Given the description of an element on the screen output the (x, y) to click on. 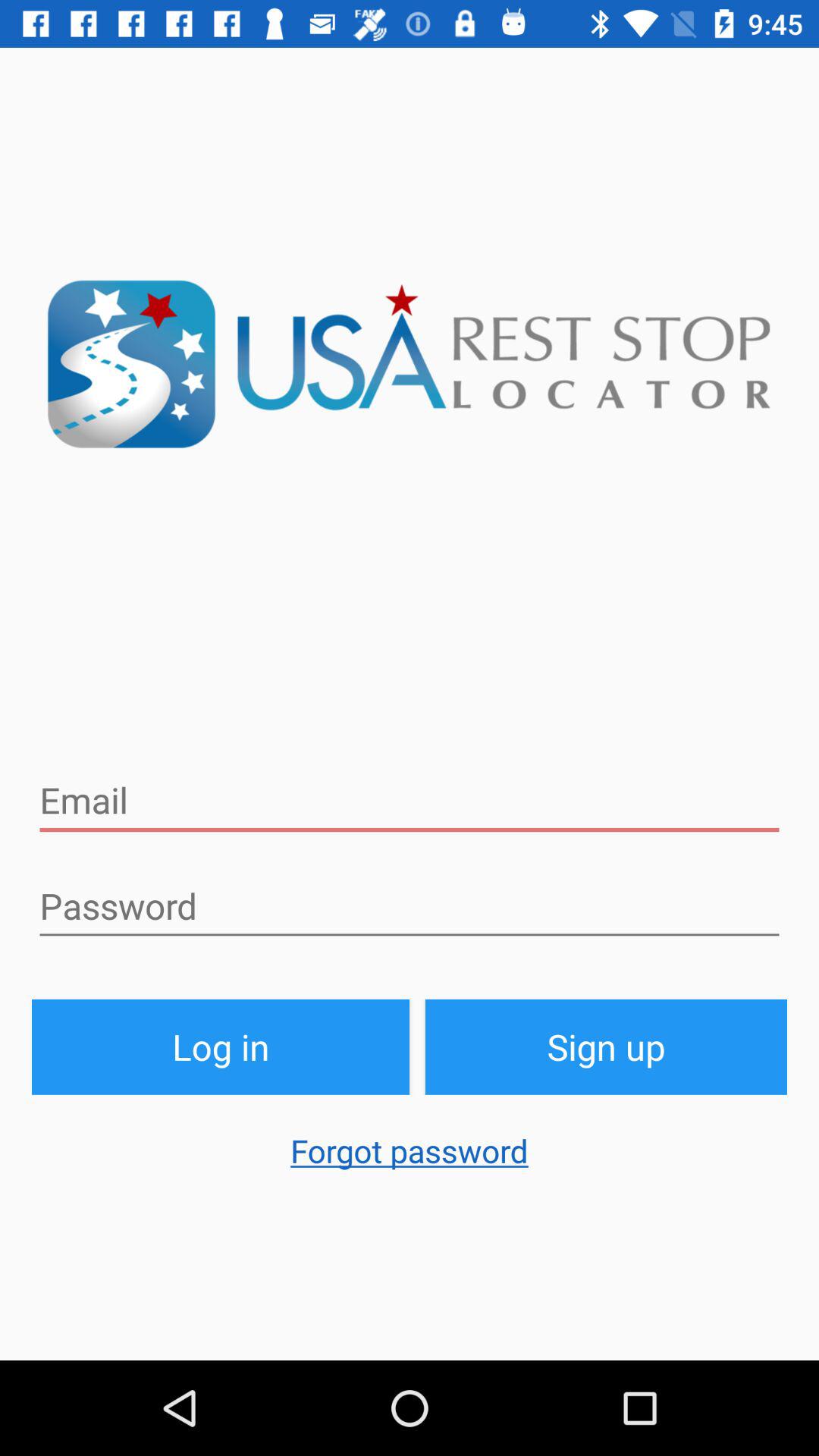
choose icon next to the log in button (606, 1046)
